Given the description of an element on the screen output the (x, y) to click on. 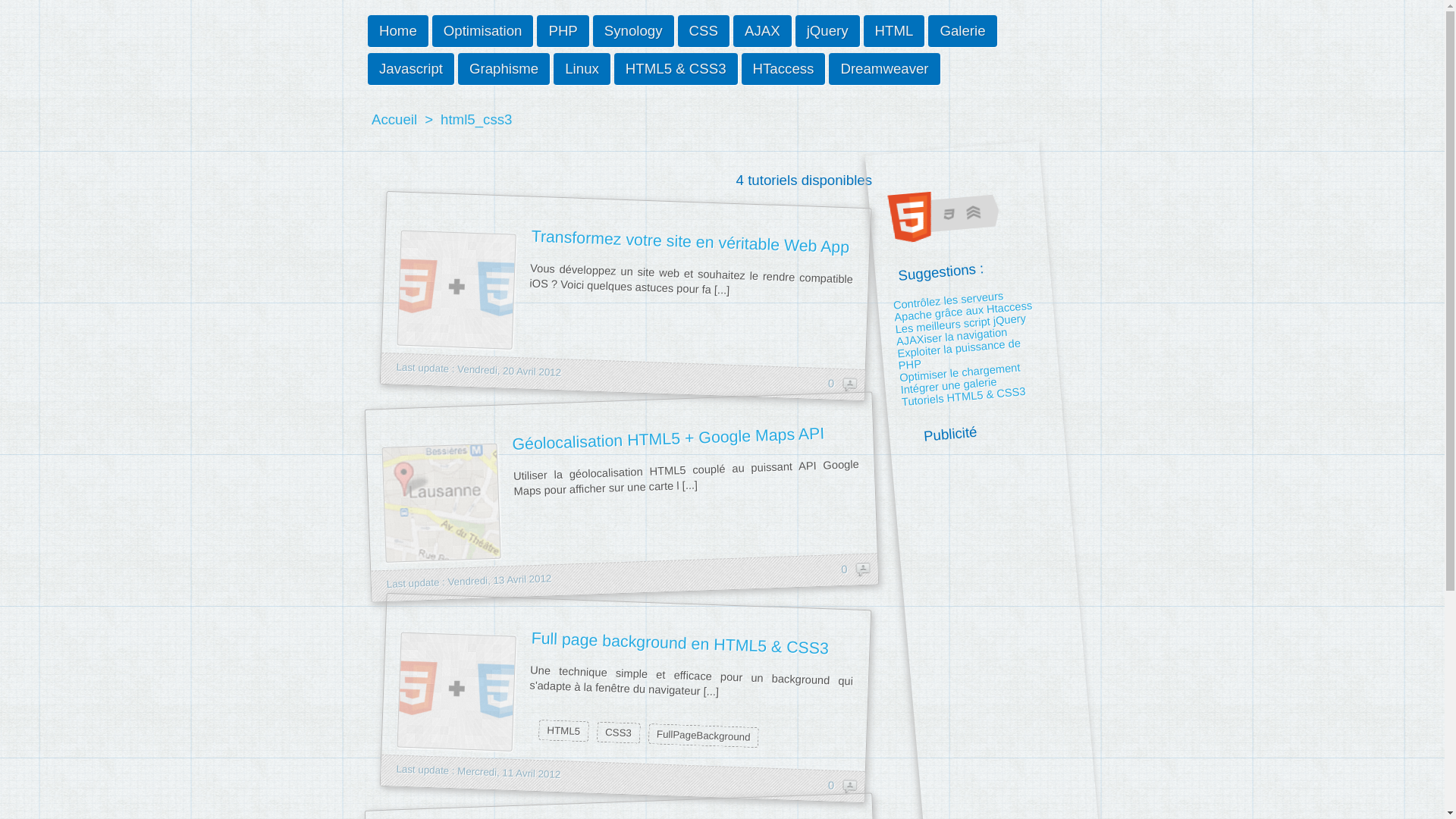
Tutoriels HTML5 & CSS3 Element type: text (962, 391)
html5_css3 Element type: text (475, 119)
Accueil Element type: text (394, 119)
Optimisation Element type: text (482, 31)
jQuery Element type: text (827, 31)
HTML5 & CSS3 Element type: text (675, 68)
Galerie Element type: text (962, 31)
Exploiter la puissance de PHP Element type: text (958, 348)
AJAX Element type: text (762, 31)
CSS3 Element type: text (619, 731)
Les meilleurs script jQuery Element type: text (960, 318)
FullPageBackground Element type: text (704, 732)
CSS Element type: text (703, 31)
Optimiser le chargement Element type: text (959, 366)
Full page background en HTML5 & CSS3 Element type: text (627, 633)
Linux Element type: text (581, 68)
Home Element type: text (397, 31)
Javascript Element type: text (410, 68)
HTML Element type: text (894, 31)
Synology Element type: text (633, 31)
PHP Element type: text (562, 31)
Dreamweaver Element type: text (883, 68)
HTML5 Powered with CSS3 / Styling, and Semantics Element type: hover (949, 208)
Graphisme Element type: text (503, 68)
HTaccess Element type: text (783, 68)
HTML5 Element type: text (565, 729)
AJAXiser la navigation Element type: text (951, 332)
